Given the description of an element on the screen output the (x, y) to click on. 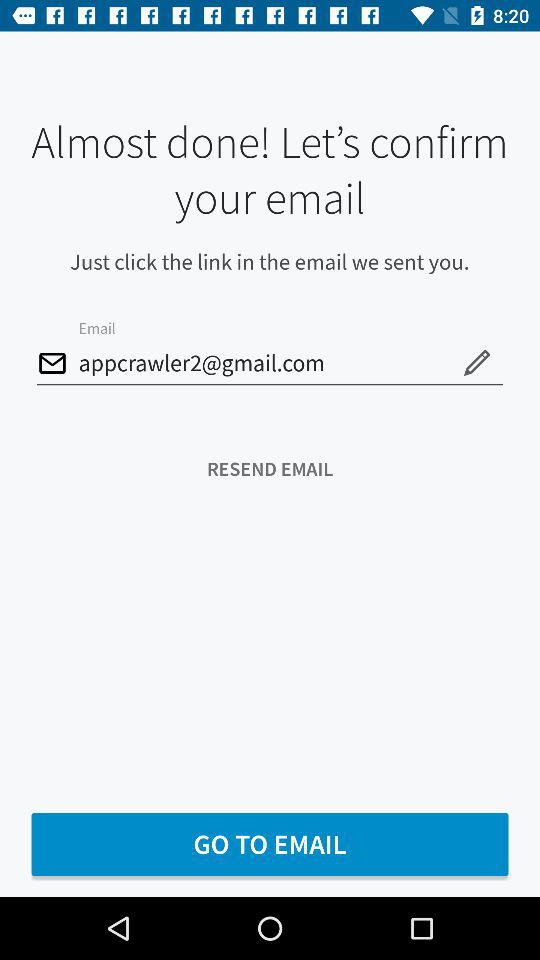
select the item below just click the icon (476, 362)
